Given the description of an element on the screen output the (x, y) to click on. 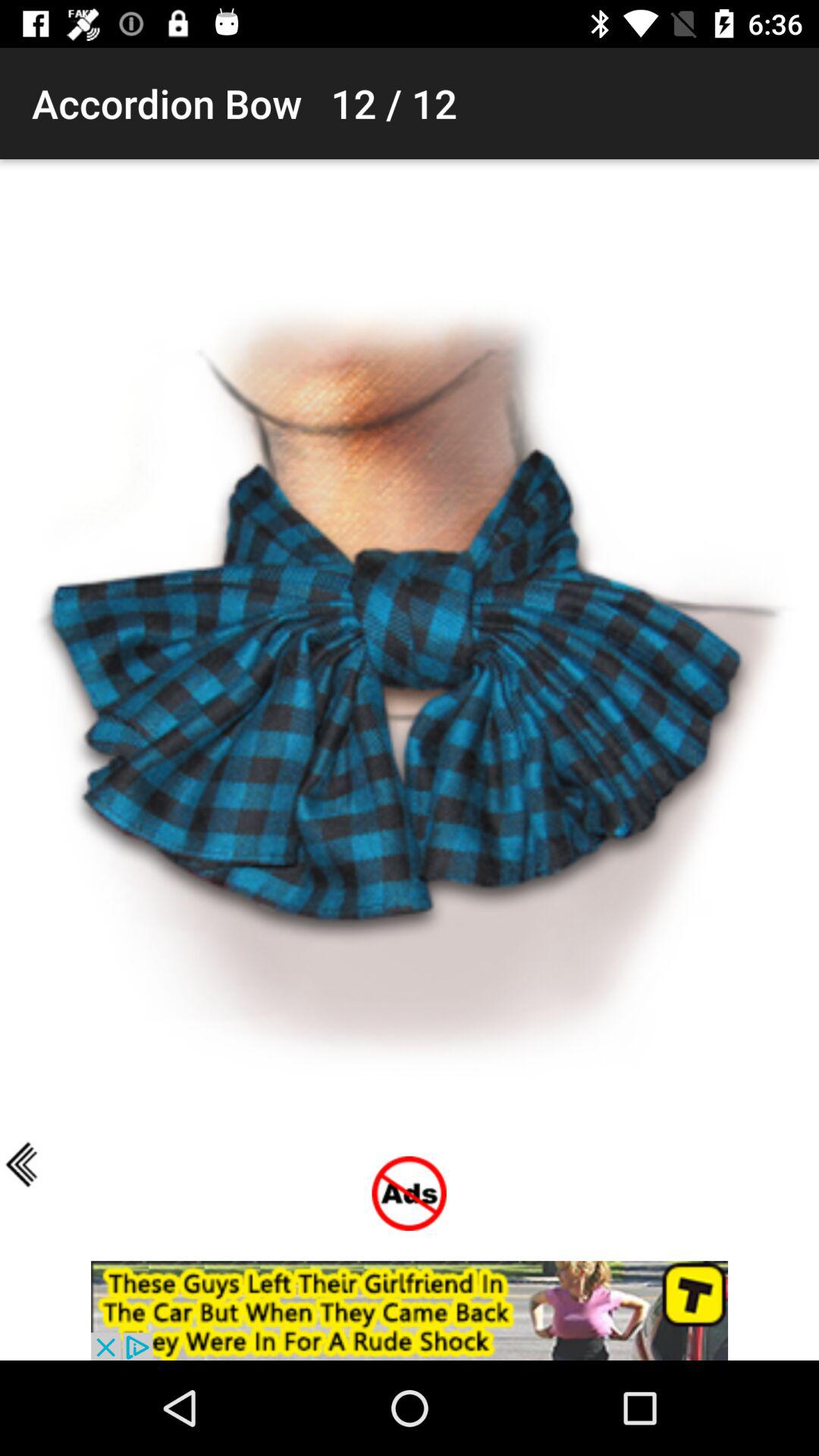
share the article (409, 1310)
